Given the description of an element on the screen output the (x, y) to click on. 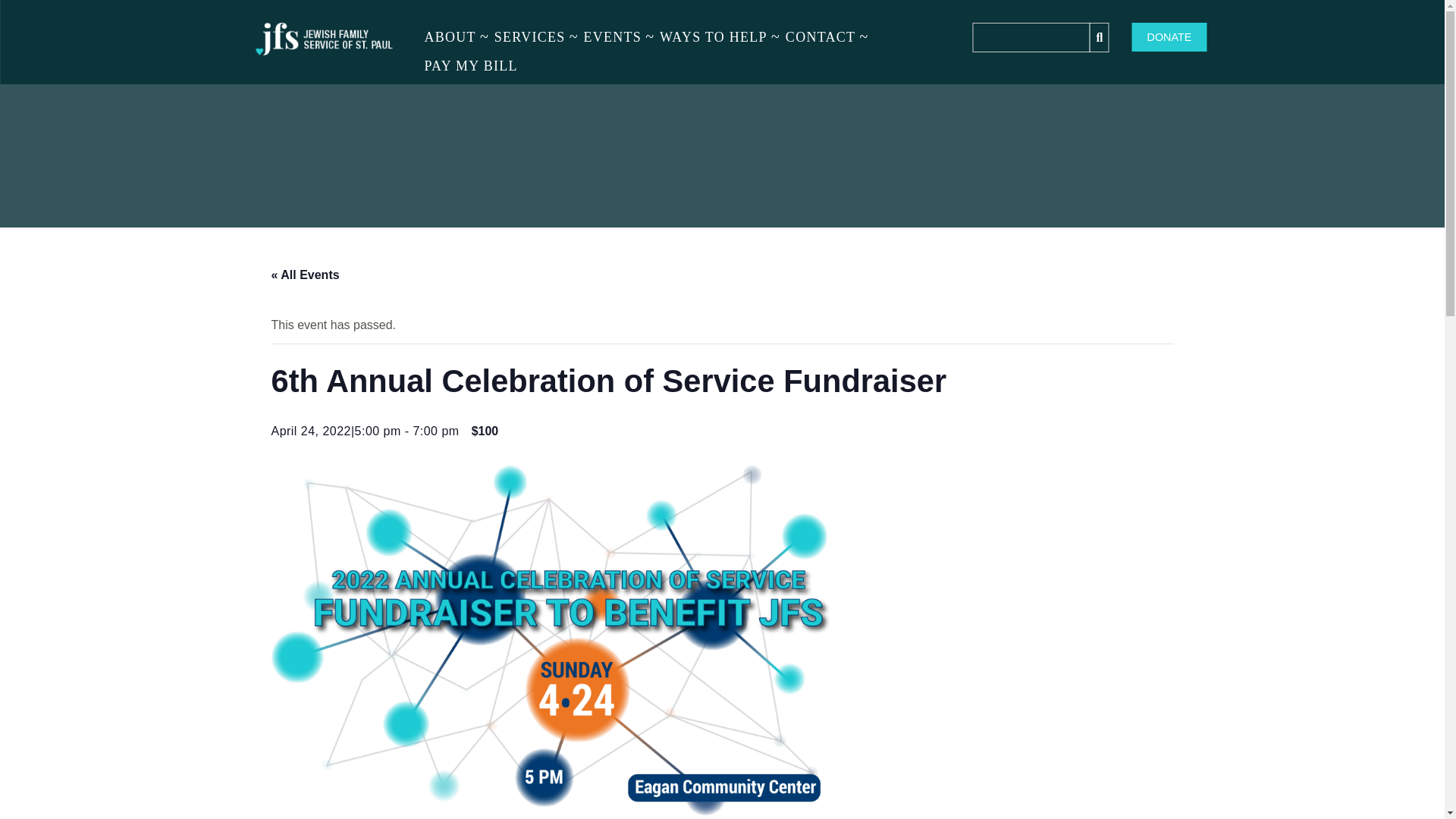
PAY MY BILL (470, 65)
SERVICES (529, 36)
EVENTS (611, 36)
ABOUT (449, 36)
WAYS TO HELP (713, 36)
JFS: Jewish Family Service of St. Paul, Minnesota (324, 42)
DONATE (1169, 36)
CONTACT (820, 36)
